Given the description of an element on the screen output the (x, y) to click on. 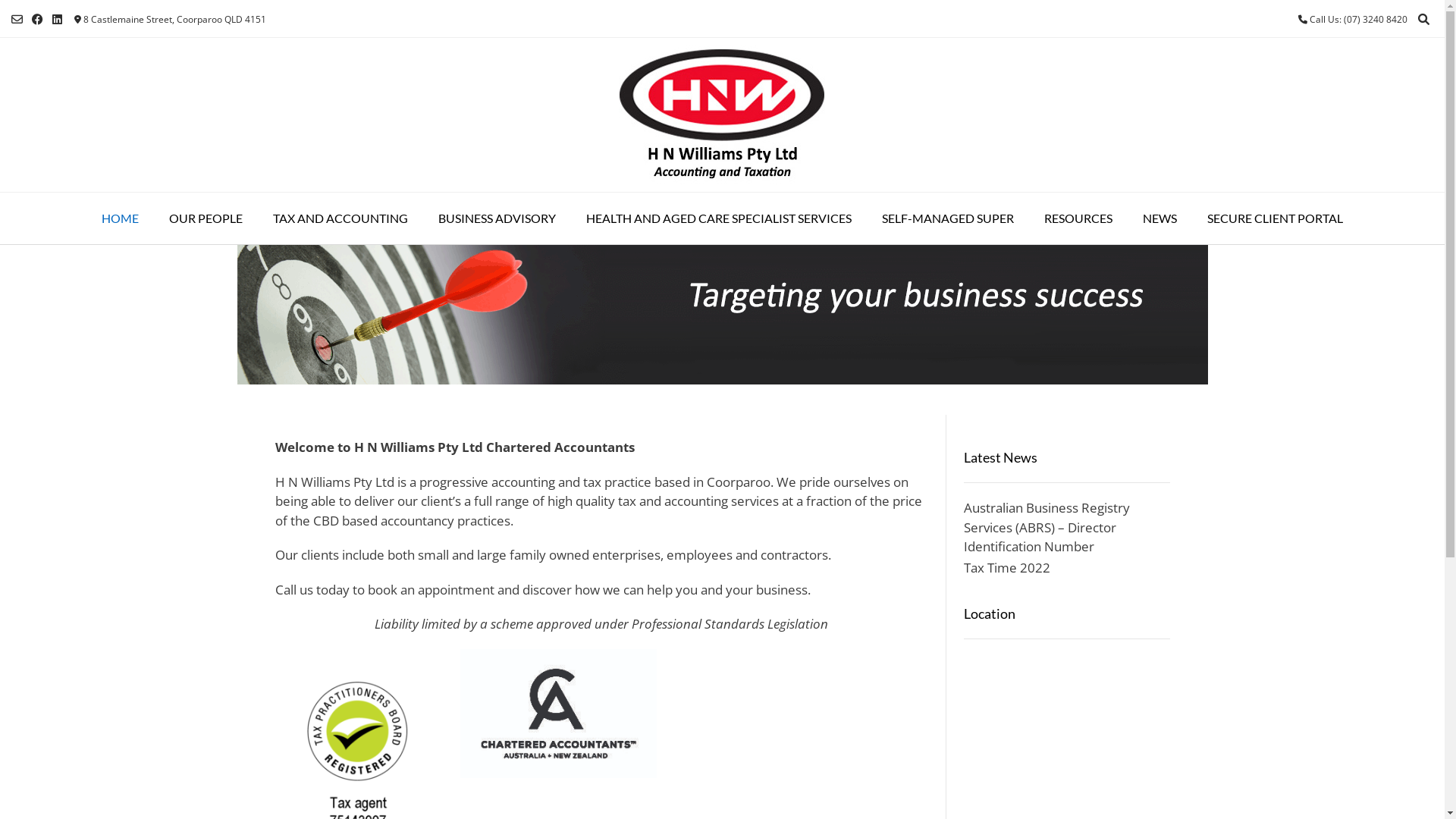
SELF-MANAGED SUPER Element type: text (947, 218)
Send Us an Email Element type: hover (16, 19)
SECURE CLIENT PORTAL Element type: text (1275, 218)
HEALTH AND AGED CARE SPECIALIST SERVICES Element type: text (718, 218)
NEWS Element type: text (1159, 218)
RESOURCES Element type: text (1078, 218)
Find Us on Facebook Element type: hover (37, 19)
TAX AND ACCOUNTING Element type: text (340, 218)
HOME Element type: text (119, 218)
OUR PEOPLE Element type: text (205, 218)
H N Williams Pty Ltd Element type: hover (721, 114)
Tax Time 2022 Element type: text (1006, 566)
Find Us on LinkedIn Element type: hover (57, 19)
BUSINESS ADVISORY Element type: text (497, 218)
